Given the description of an element on the screen output the (x, y) to click on. 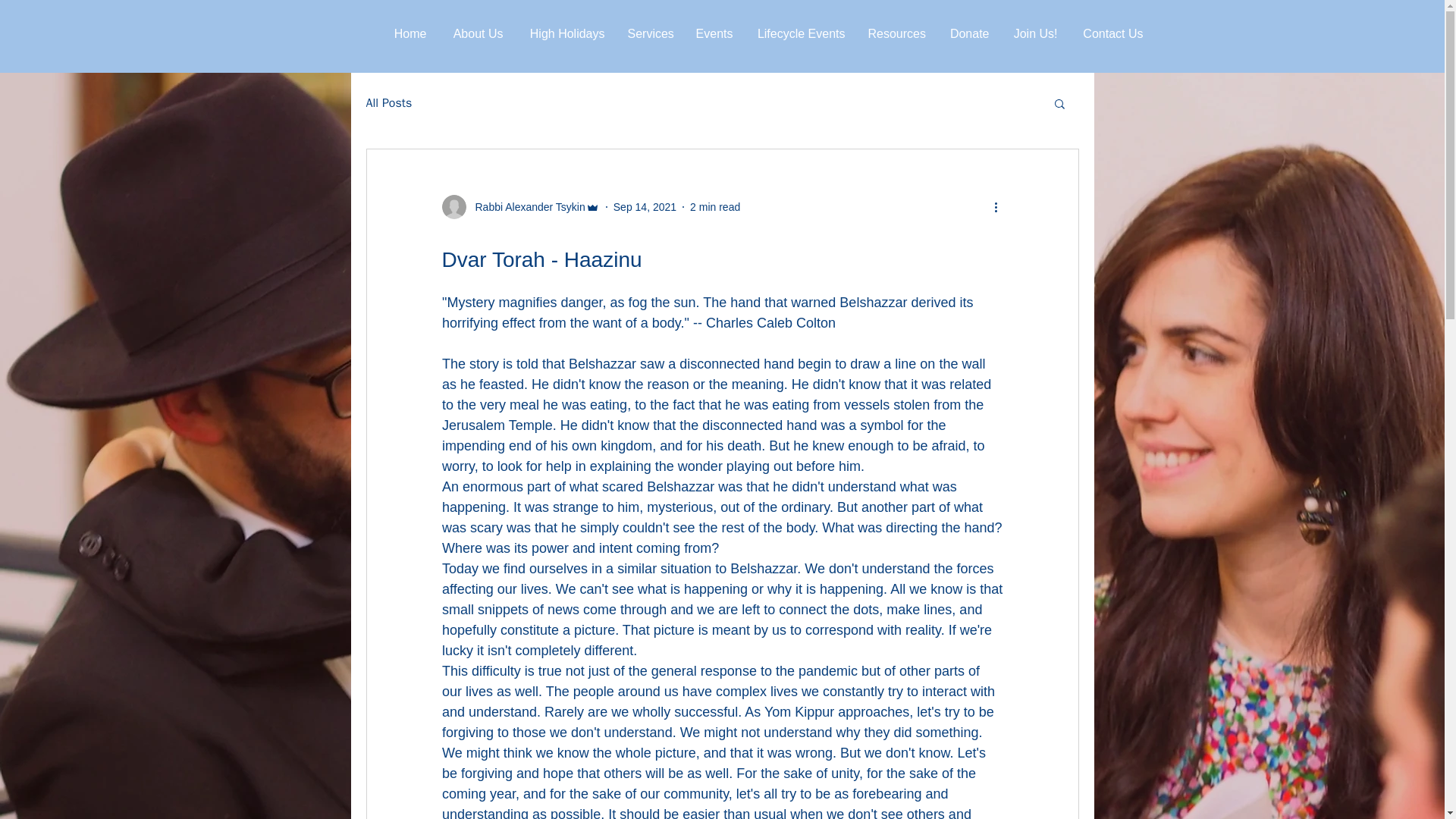
Donate (968, 34)
Rabbi Alexander Tsykin (525, 206)
Home (409, 34)
Join Us! (1034, 34)
Sep 14, 2021 (644, 205)
About Us (476, 34)
2 min read (714, 205)
Lifecycle Events (800, 34)
Contact Us (1111, 34)
All Posts (388, 103)
